Given the description of an element on the screen output the (x, y) to click on. 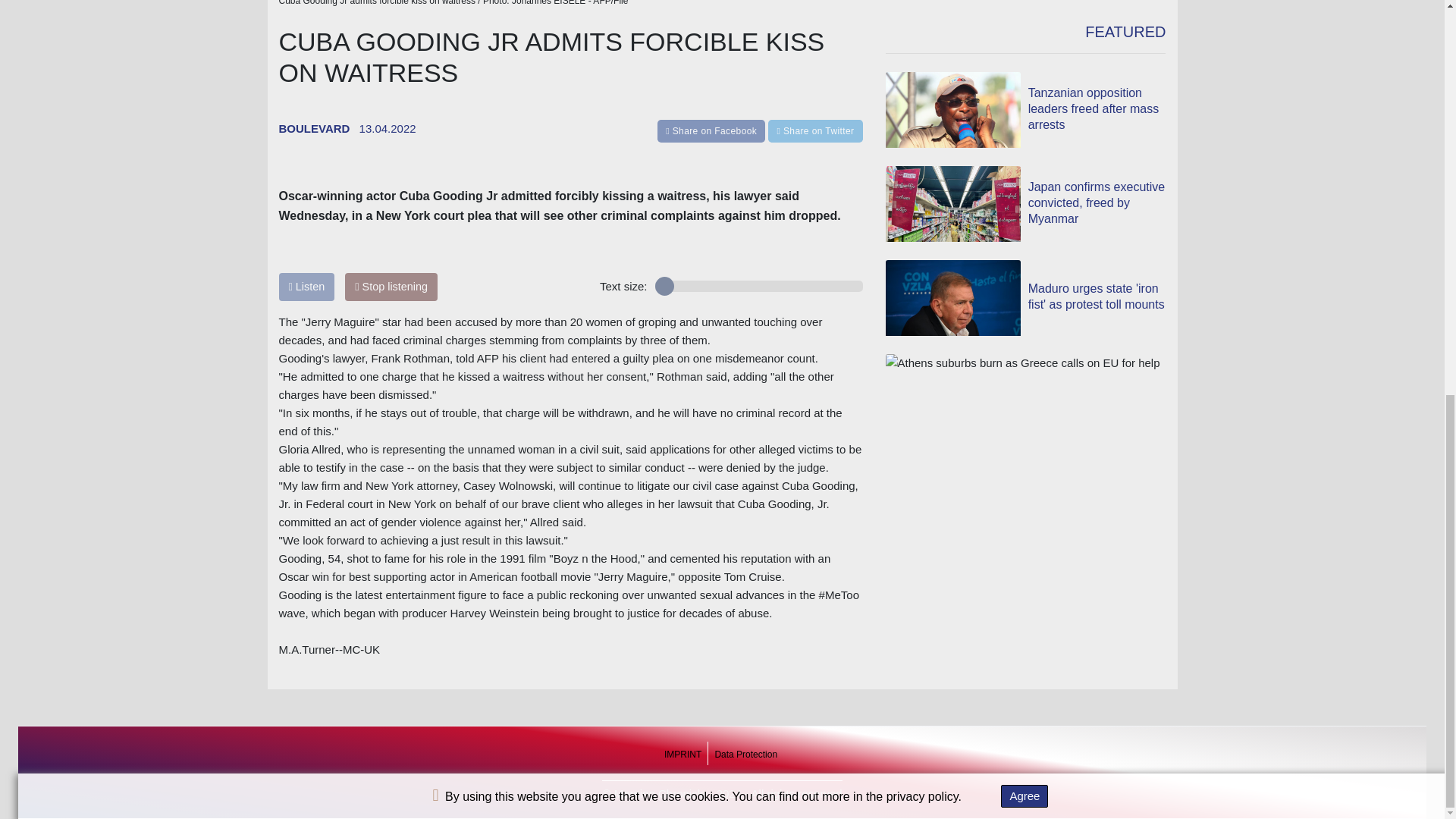
Share on Facebook (713, 129)
BOULEVARD (314, 128)
Share on Twitter (814, 130)
Stop listening (391, 286)
Share on Twitter (814, 129)
15 (759, 285)
Agree (1024, 33)
Listen (306, 286)
Share on Facebook (711, 130)
IMPRINT (682, 754)
